Given the description of an element on the screen output the (x, y) to click on. 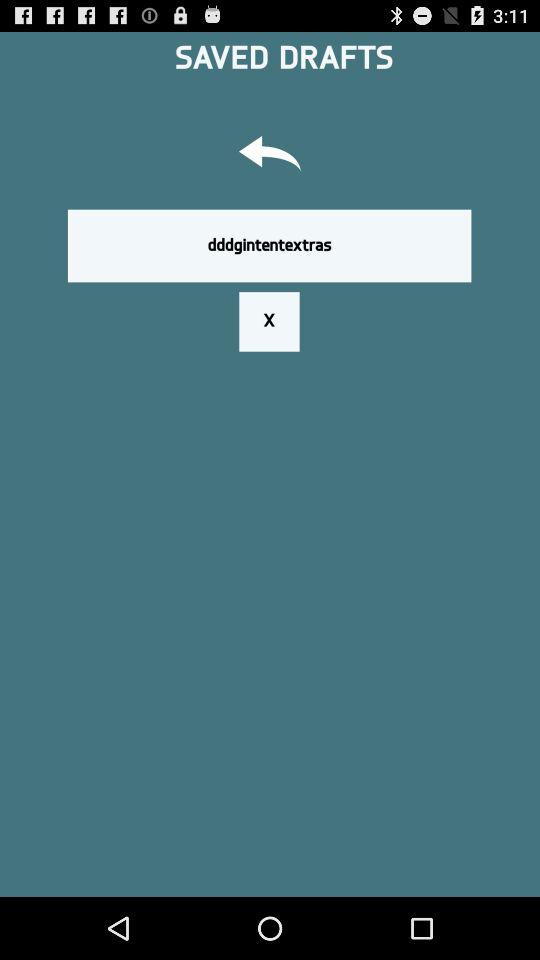
swipe until x (269, 321)
